Given the description of an element on the screen output the (x, y) to click on. 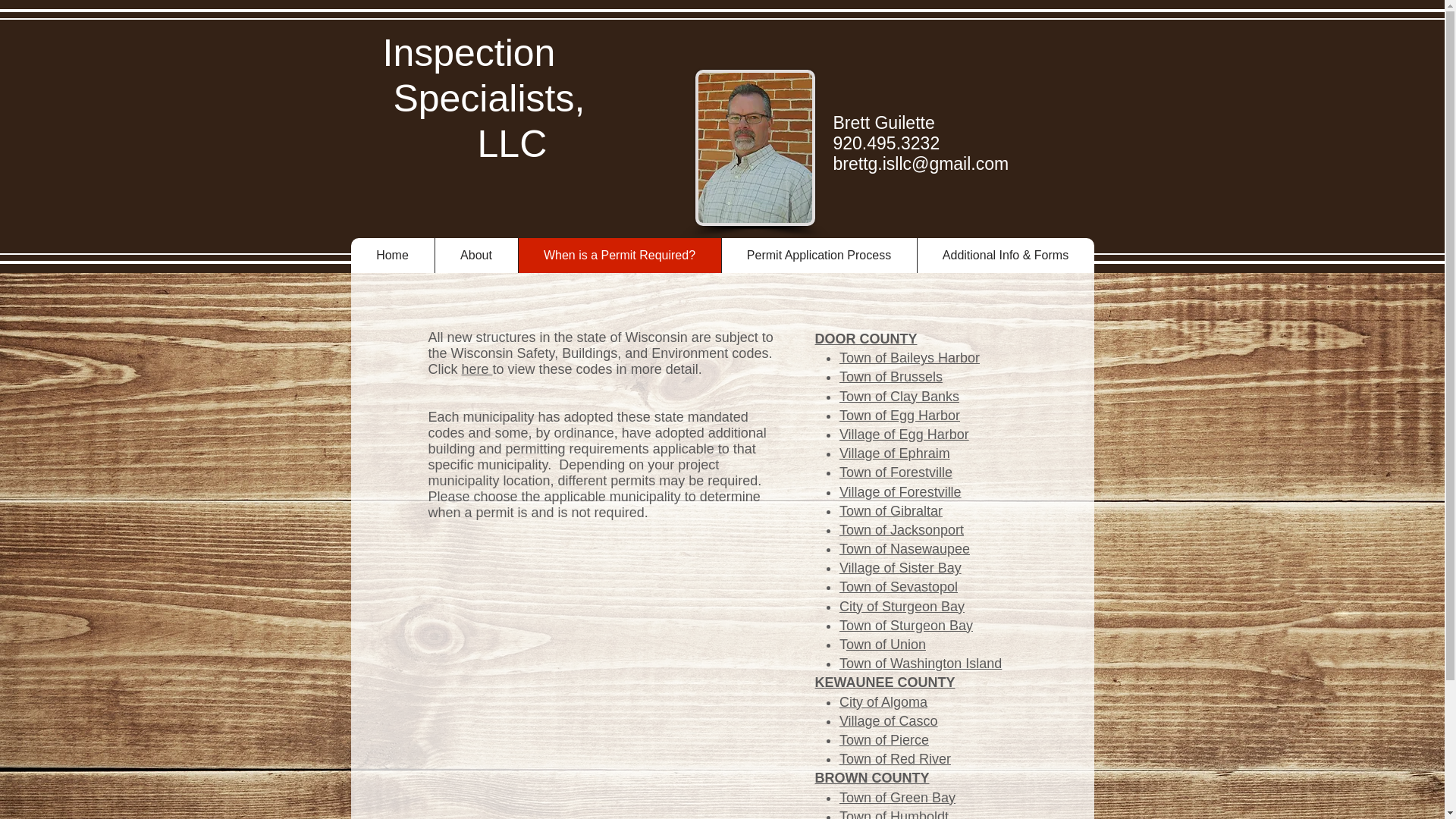
About (474, 255)
Inspection         Specialists,                   LLC (530, 98)
Home (391, 255)
Permit Application Process (817, 255)
When is a Permit Required? (618, 255)
